Given the description of an element on the screen output the (x, y) to click on. 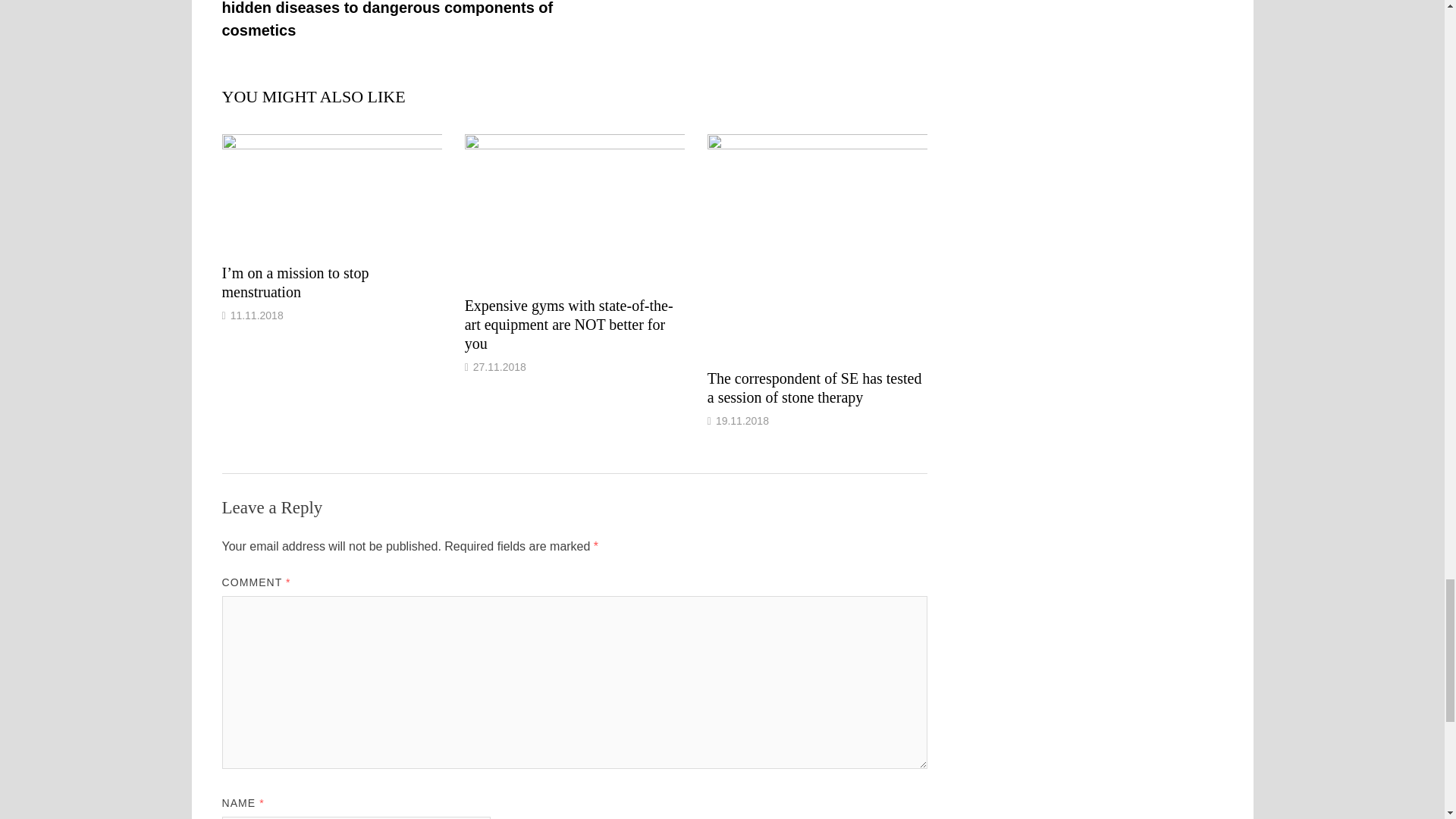
27.11.2018 (499, 367)
11.11.2018 (256, 315)
